Given the description of an element on the screen output the (x, y) to click on. 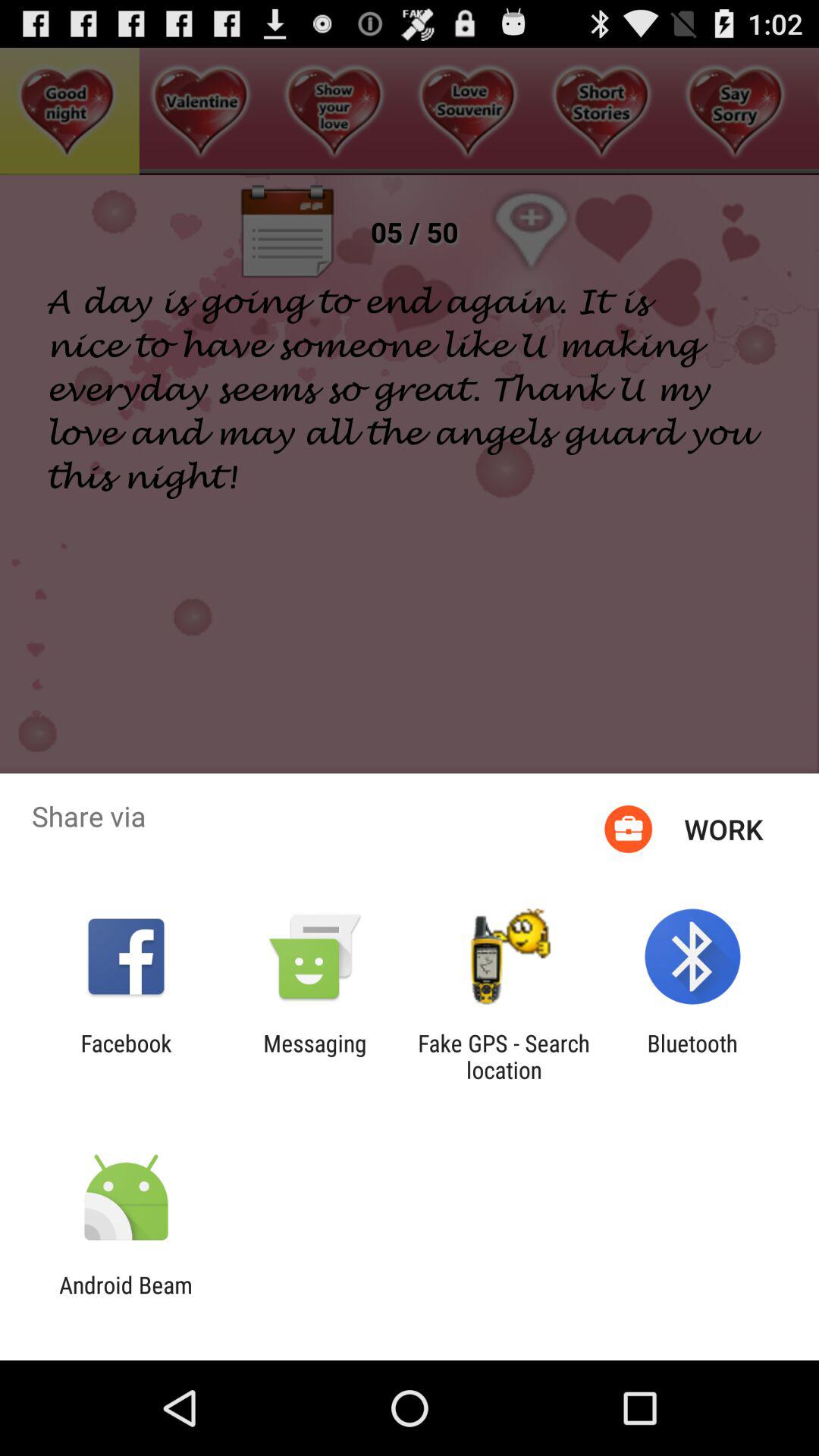
open messaging (314, 1056)
